Given the description of an element on the screen output the (x, y) to click on. 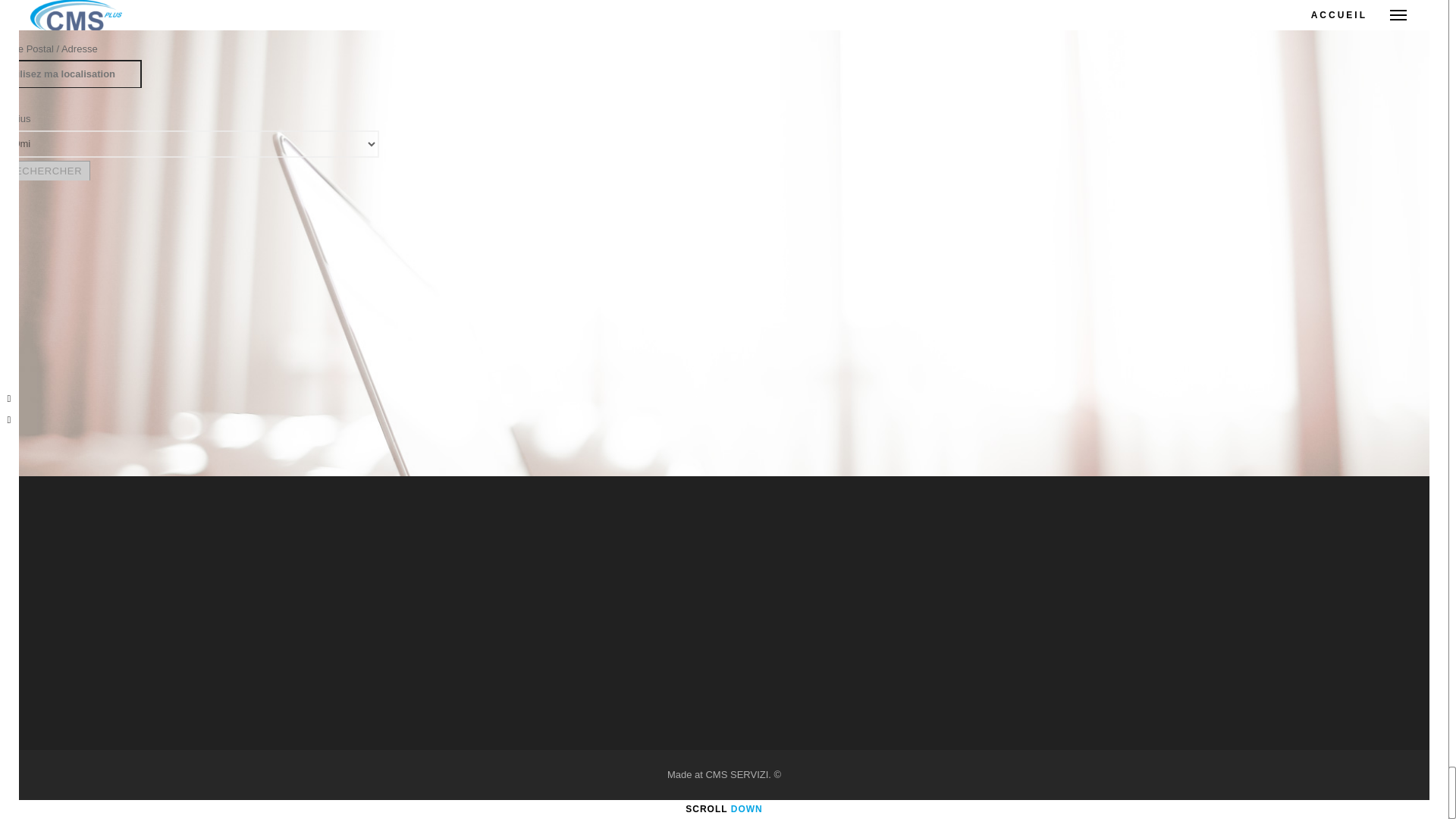
Rechercher (44, 170)
Rechercher (44, 170)
